Given the description of an element on the screen output the (x, y) to click on. 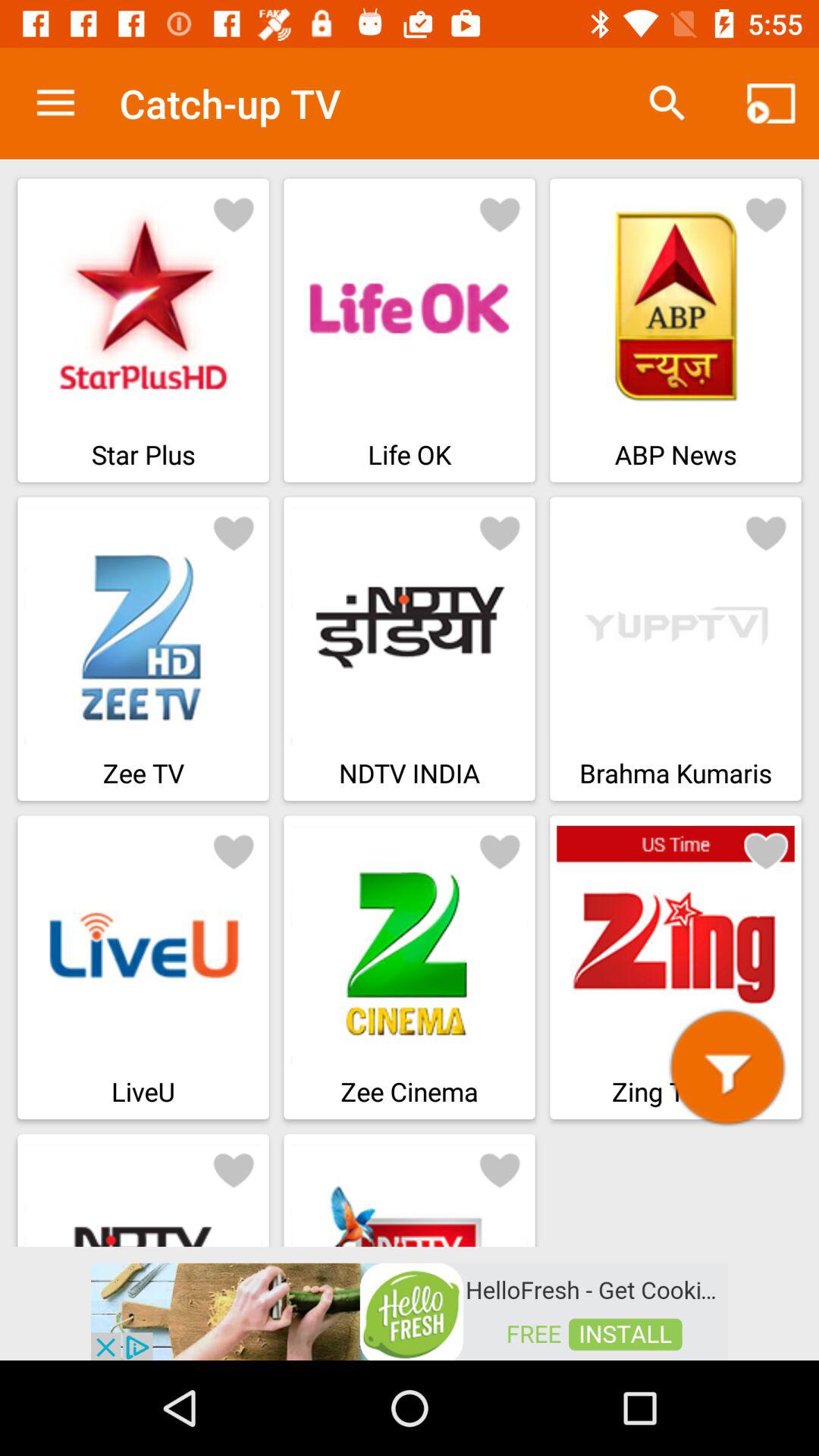
add to favorites (766, 532)
